Given the description of an element on the screen output the (x, y) to click on. 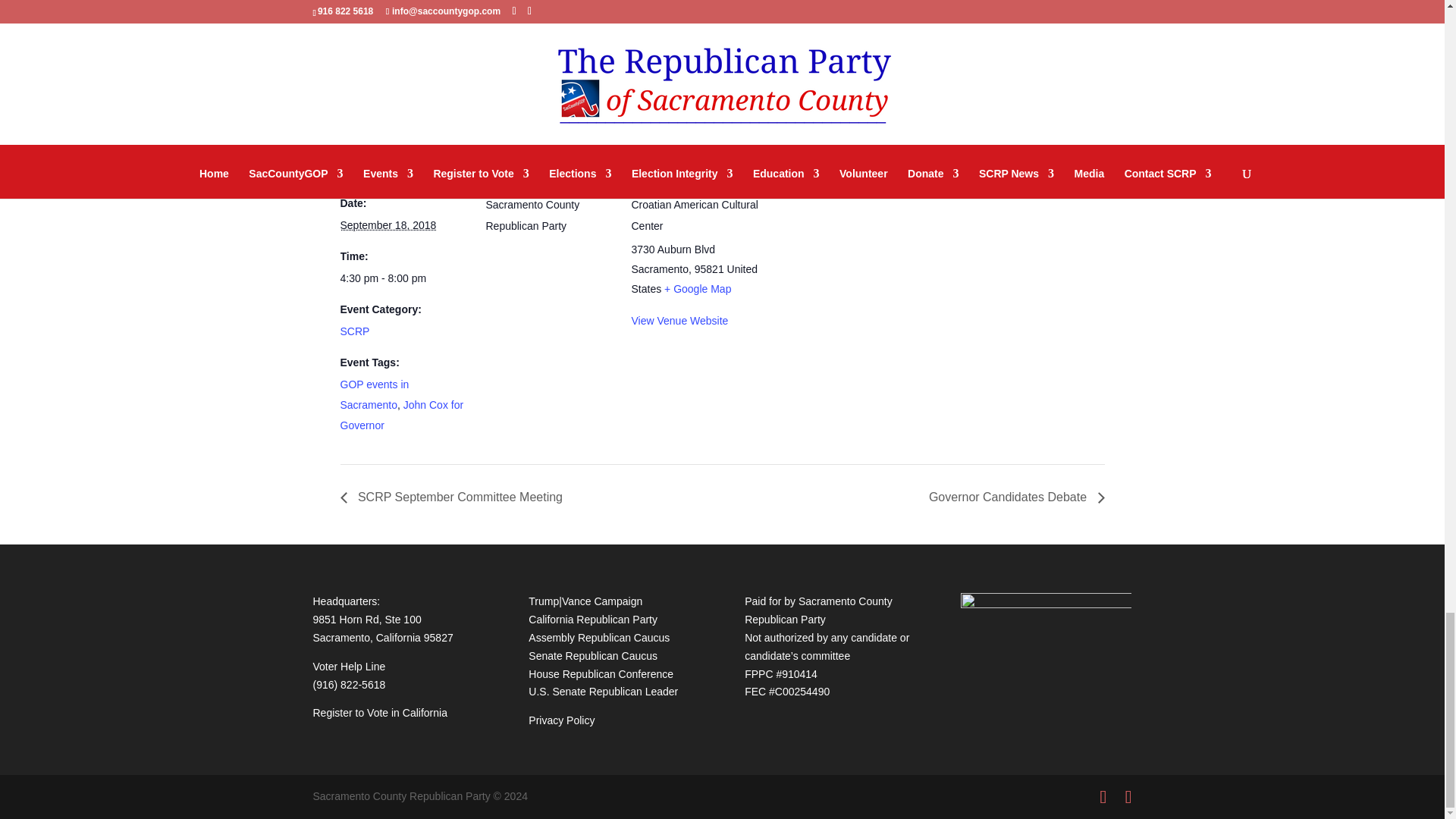
2018-09-18 (387, 224)
2018-09-18 (403, 278)
Click to view a Google Map (696, 288)
